Given the description of an element on the screen output the (x, y) to click on. 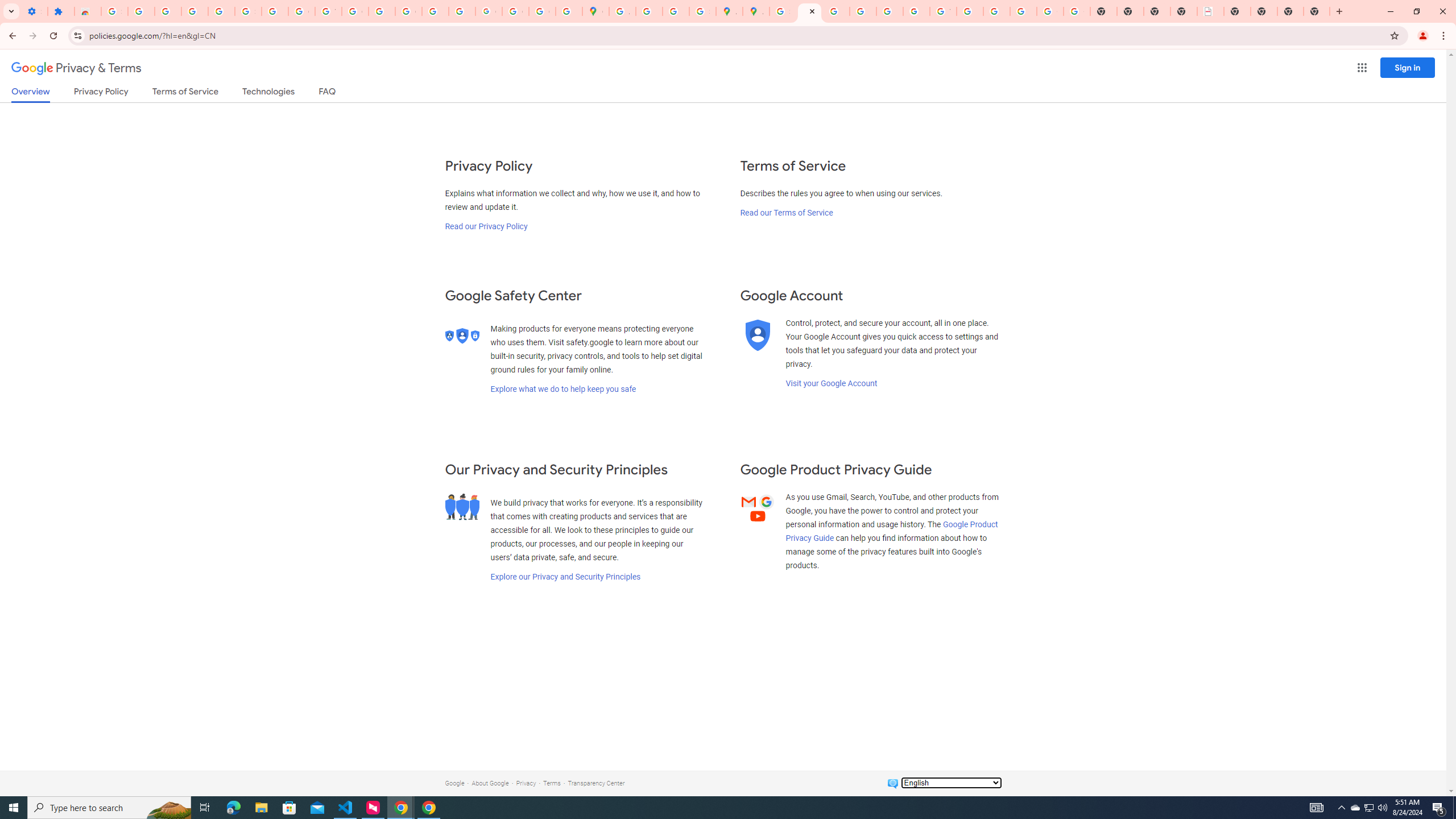
New Tab (1316, 11)
Explore what we do to help keep you safe (563, 388)
About Google (490, 783)
LAAD Defence & Security 2025 | BAE Systems (1210, 11)
